Given the description of an element on the screen output the (x, y) to click on. 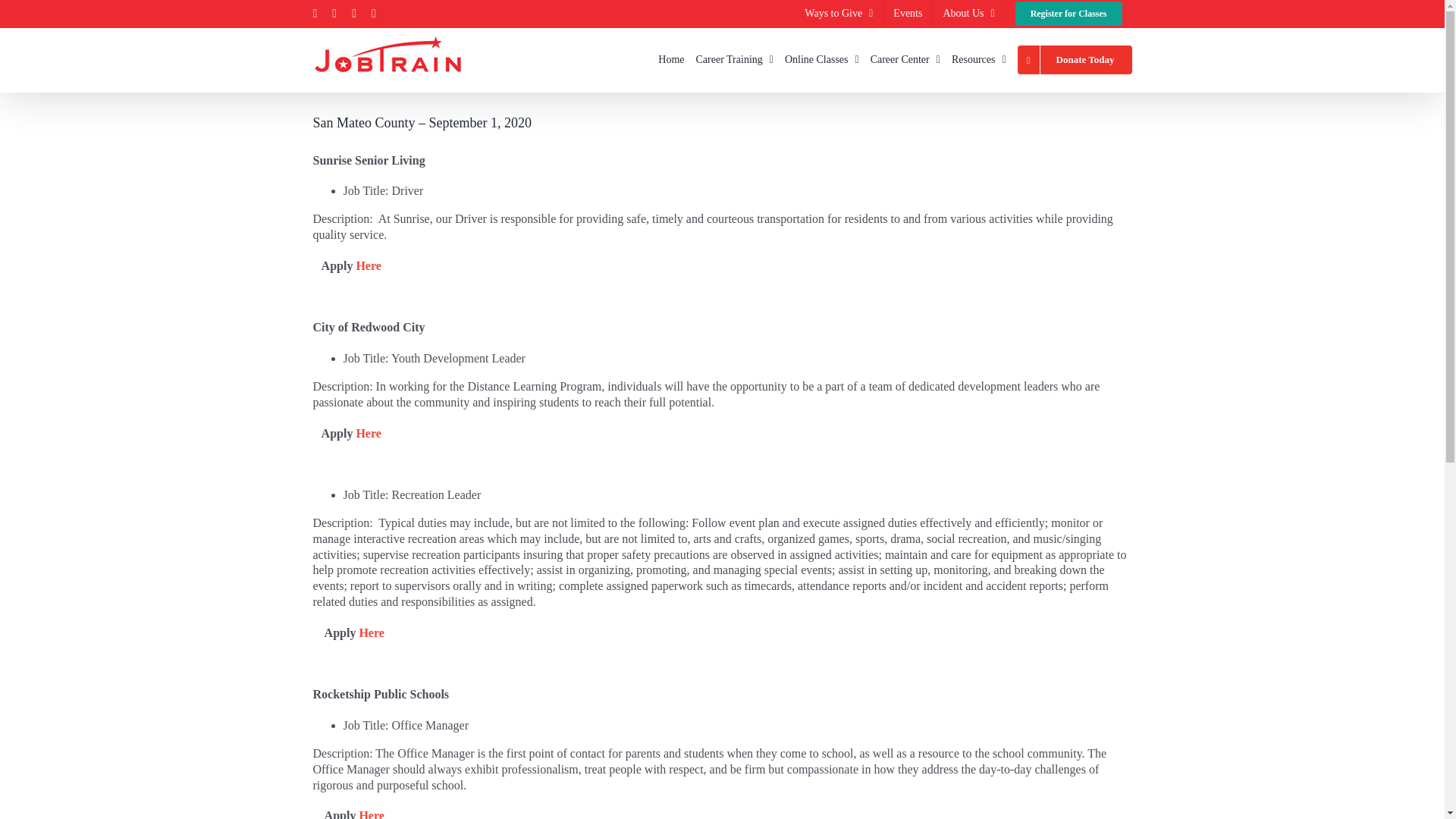
Online Classes (821, 59)
Events (907, 13)
Career Training (734, 59)
About Us (968, 13)
Ways to Give (838, 13)
Register for Classes (1069, 13)
Career Center (905, 59)
